Given the description of an element on the screen output the (x, y) to click on. 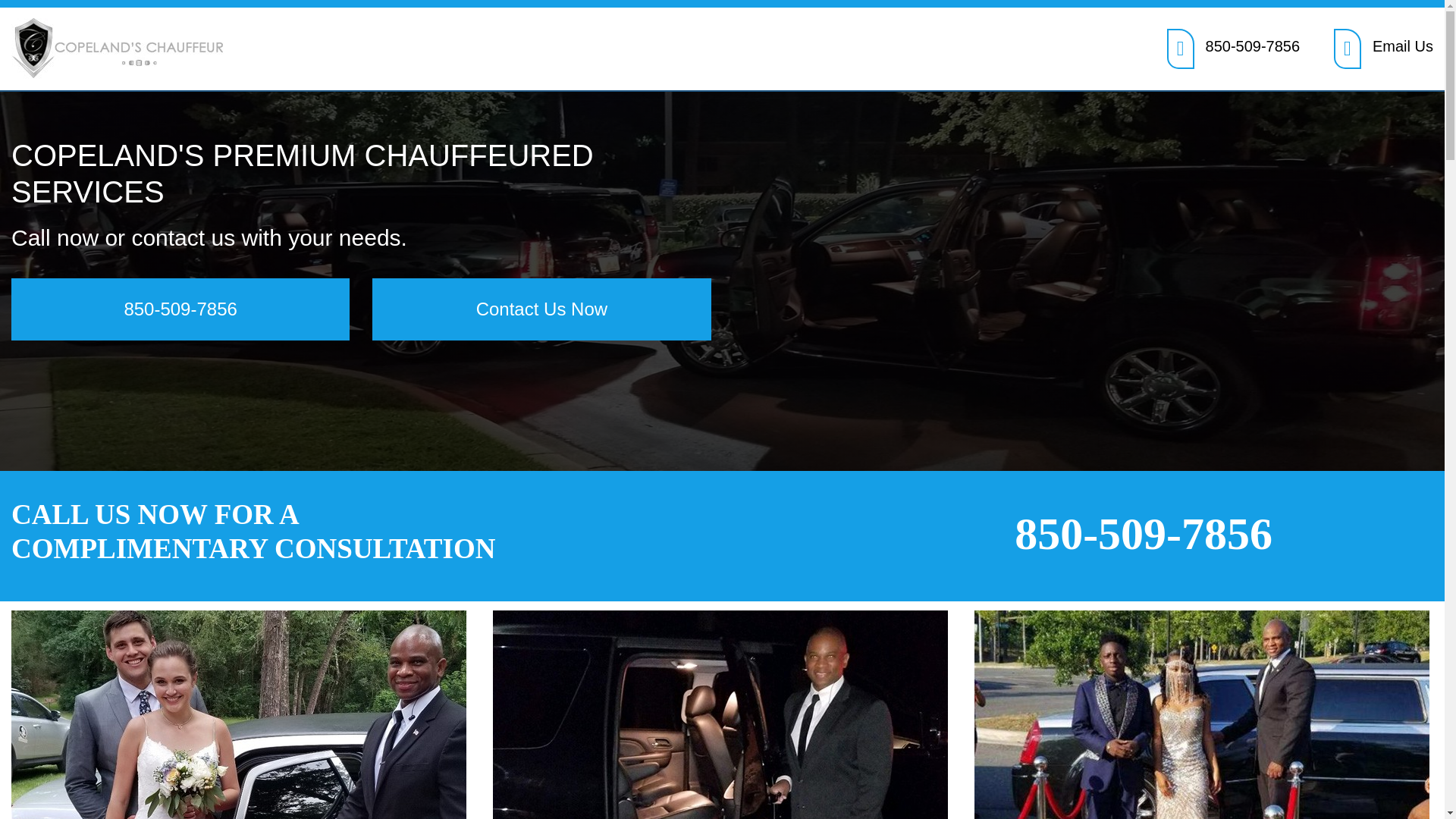
850-509-7856 (1142, 533)
Contact Us Now (541, 309)
850-509-7856 (180, 309)
850-509-7856 (1252, 45)
Email Us (1402, 45)
